Given the description of an element on the screen output the (x, y) to click on. 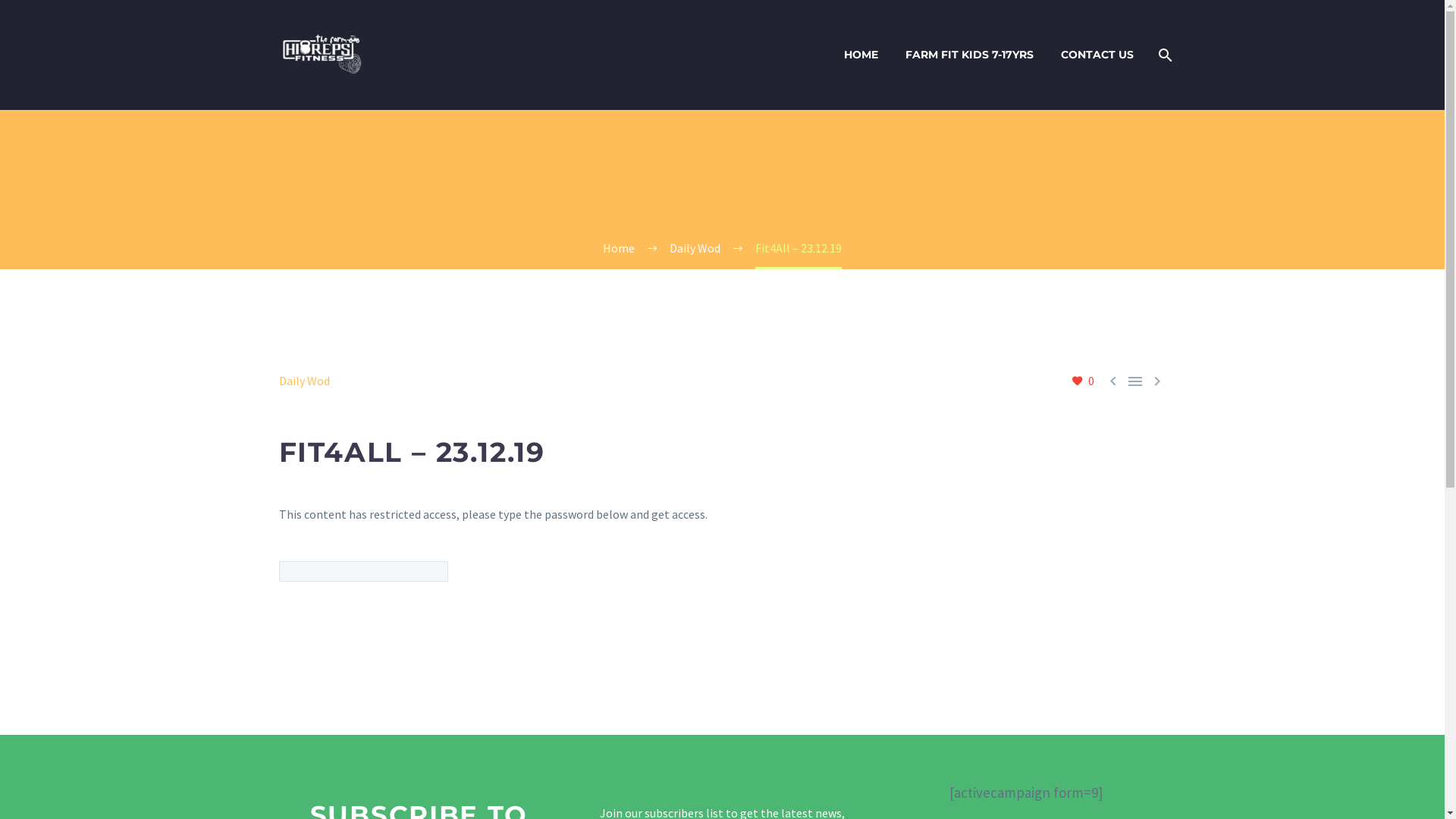
FARM FIT KIDS 7-17YRS Element type: text (968, 54)
Daily Wod Element type: text (694, 247)
HOME Element type: text (860, 54)
Home Element type: text (618, 247)
0 Element type: text (1081, 380)
Daily Wod Element type: text (304, 380)
Skip to content Element type: text (0, 0)
CONTACT US Element type: text (1097, 54)
Get access Element type: text (514, 571)
